Given the description of an element on the screen output the (x, y) to click on. 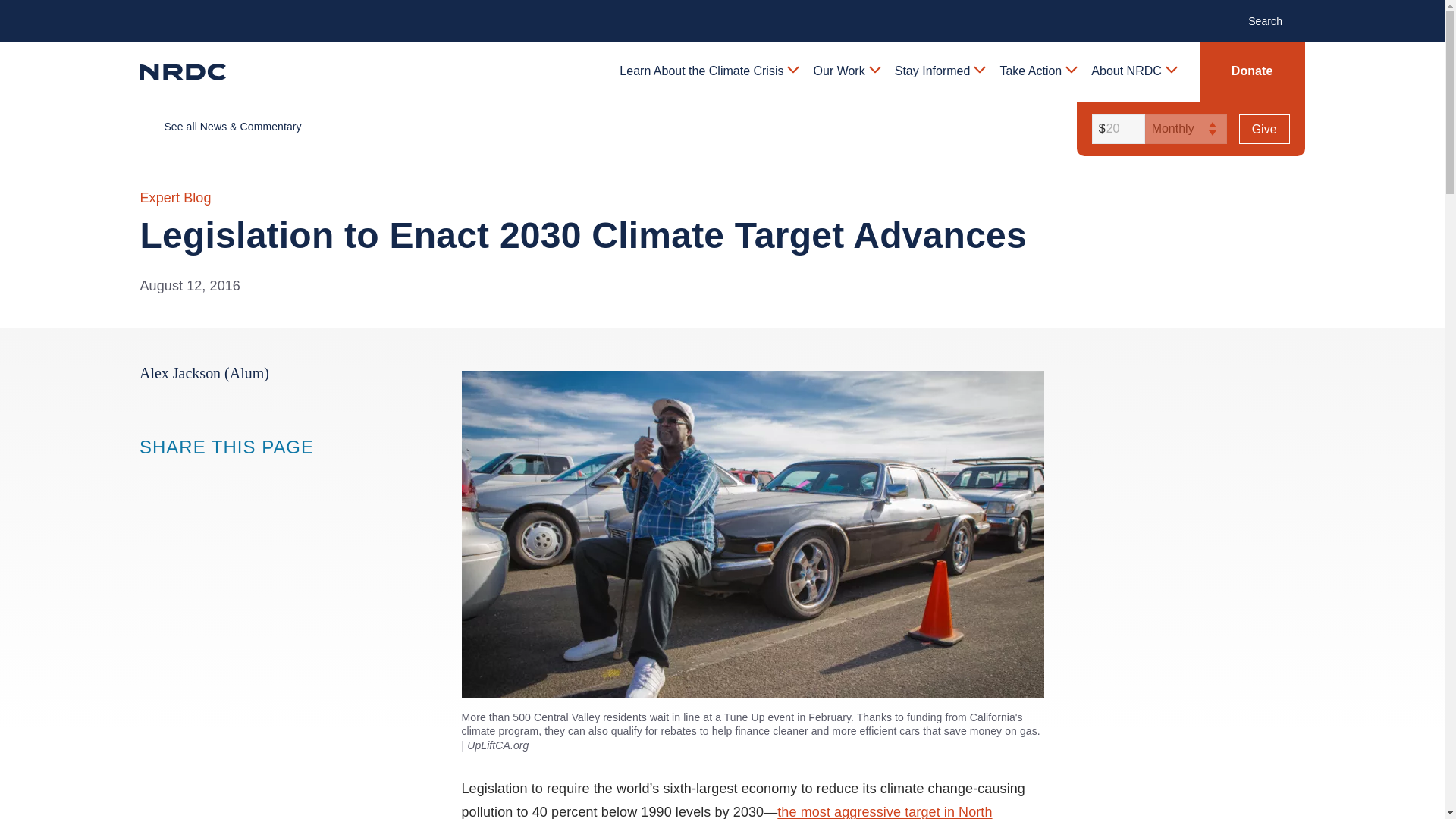
Search (1272, 19)
Share this page block (210, 475)
Stay Informed (939, 71)
Share this page block (149, 475)
20 (1116, 128)
Share this page block (180, 475)
Skip to main content (721, 12)
Our Work (846, 71)
Learn About the Climate Crisis (707, 71)
